Given the description of an element on the screen output the (x, y) to click on. 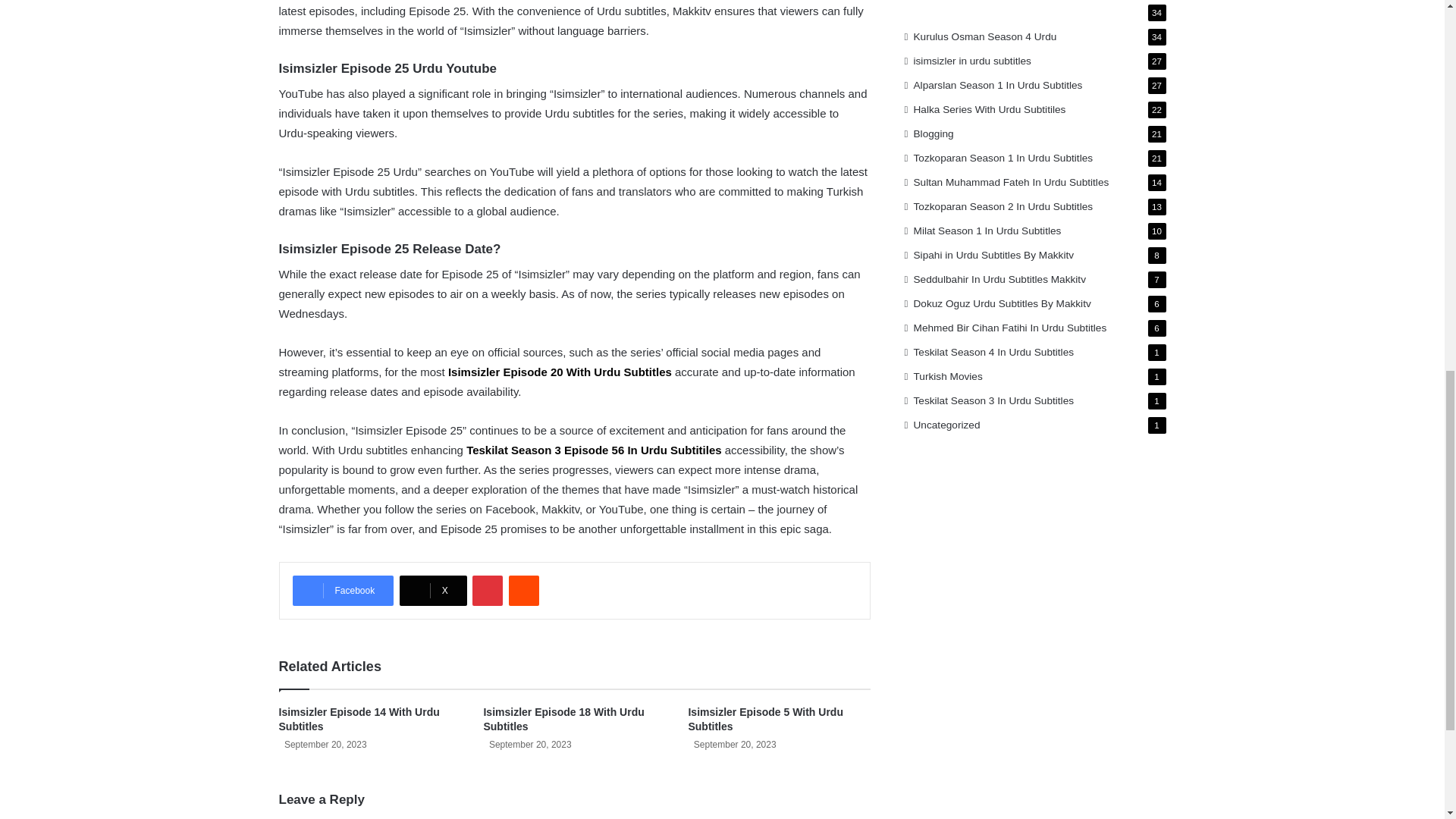
Isimsizler Episode 14 With Urdu Subtitles (359, 718)
X (432, 590)
Facebook (343, 590)
Isimsizler Episode 20 With Urdu Subtitles (559, 371)
Reddit (523, 590)
Reddit (523, 590)
Facebook (343, 590)
Teskilat Season 3 Episode 56 In Urdu Subtitiles (592, 449)
Isimsizler Episode 18 With Urdu Subtitles (563, 718)
Isimsizler Episode 5 With Urdu Subtitles (765, 718)
Pinterest (486, 590)
Pinterest (486, 590)
X (432, 590)
